Given the description of an element on the screen output the (x, y) to click on. 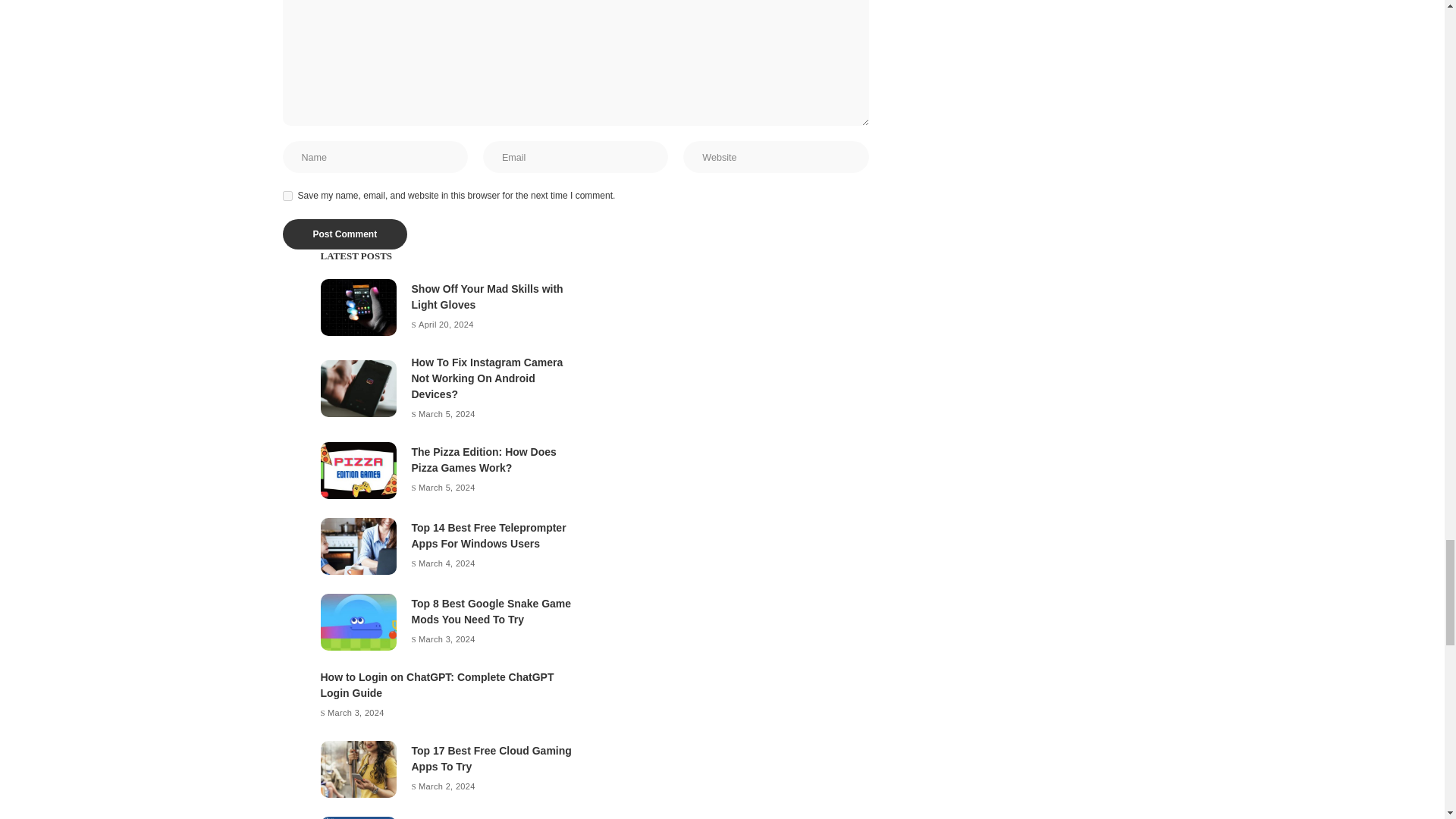
Post Comment (344, 234)
yes (287, 195)
